Given the description of an element on the screen output the (x, y) to click on. 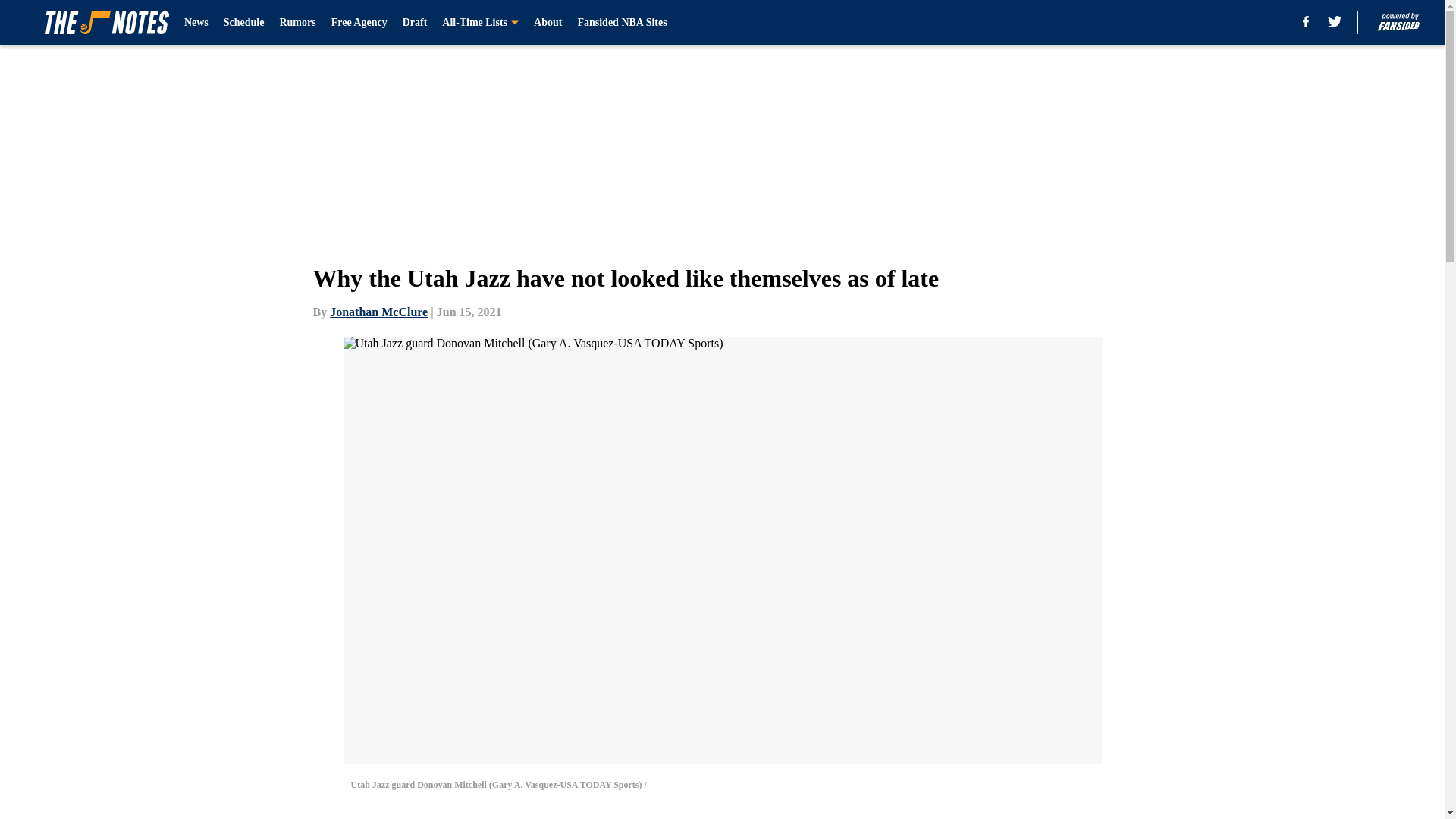
Free Agency (359, 22)
Fansided NBA Sites (621, 22)
About (548, 22)
Rumors (297, 22)
News (196, 22)
Schedule (244, 22)
All-Time Lists (480, 22)
Jonathan McClure (379, 311)
Draft (415, 22)
